Given the description of an element on the screen output the (x, y) to click on. 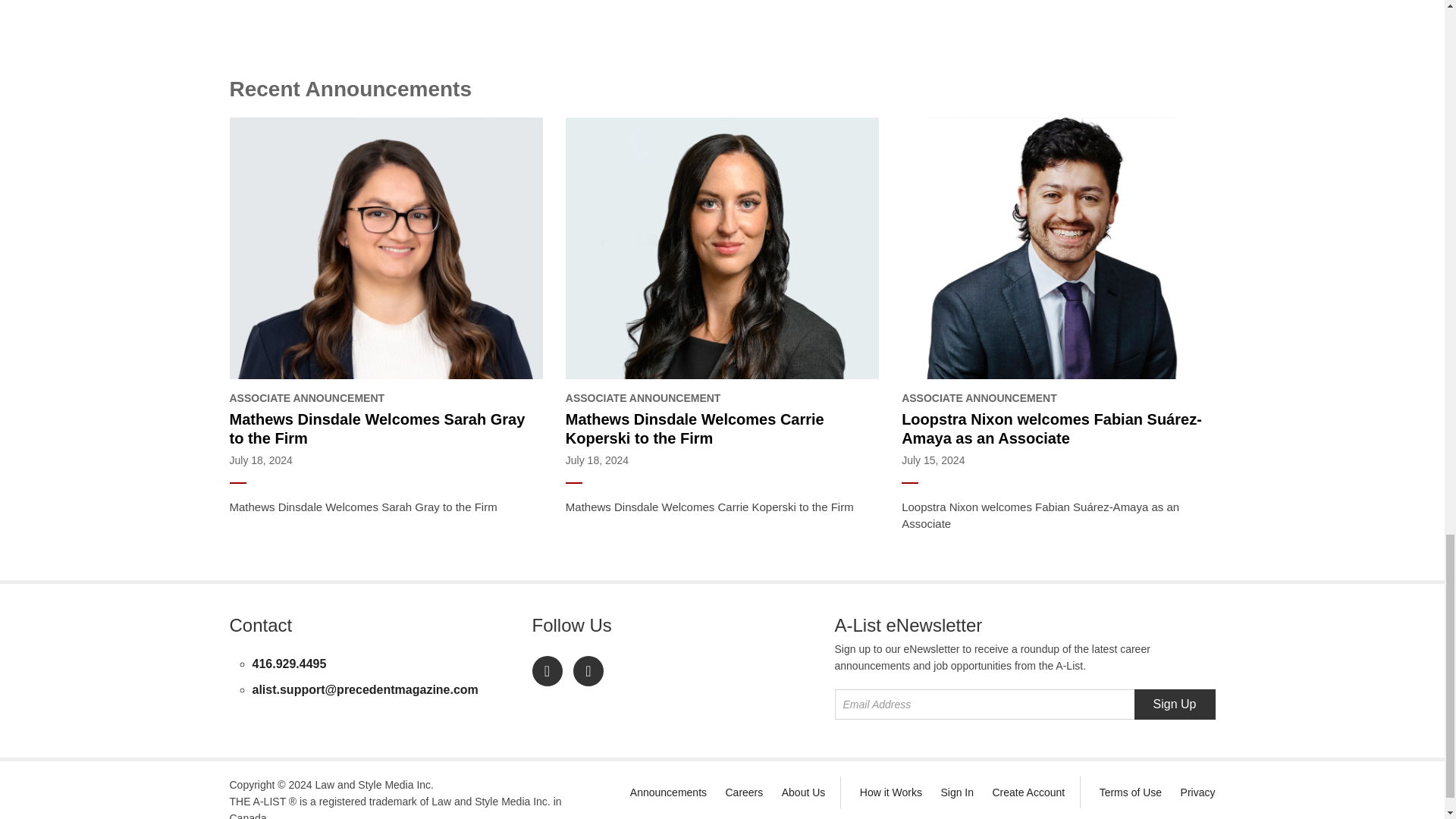
A-List on Twitter (588, 671)
Sign Up (1174, 704)
Mathews Dinsdale Welcomes Carrie Koperski to the Firm (722, 428)
A-List on LinkedIn (547, 671)
ASSOCIATE ANNOUNCEMENT (384, 398)
ASSOCIATE ANNOUNCEMENT (1057, 398)
ASSOCIATE ANNOUNCEMENT (722, 398)
Announcements (668, 792)
Mathews Dinsdale Welcomes Sarah Gray to the Firm (384, 428)
416.929.4495 (288, 663)
